Given the description of an element on the screen output the (x, y) to click on. 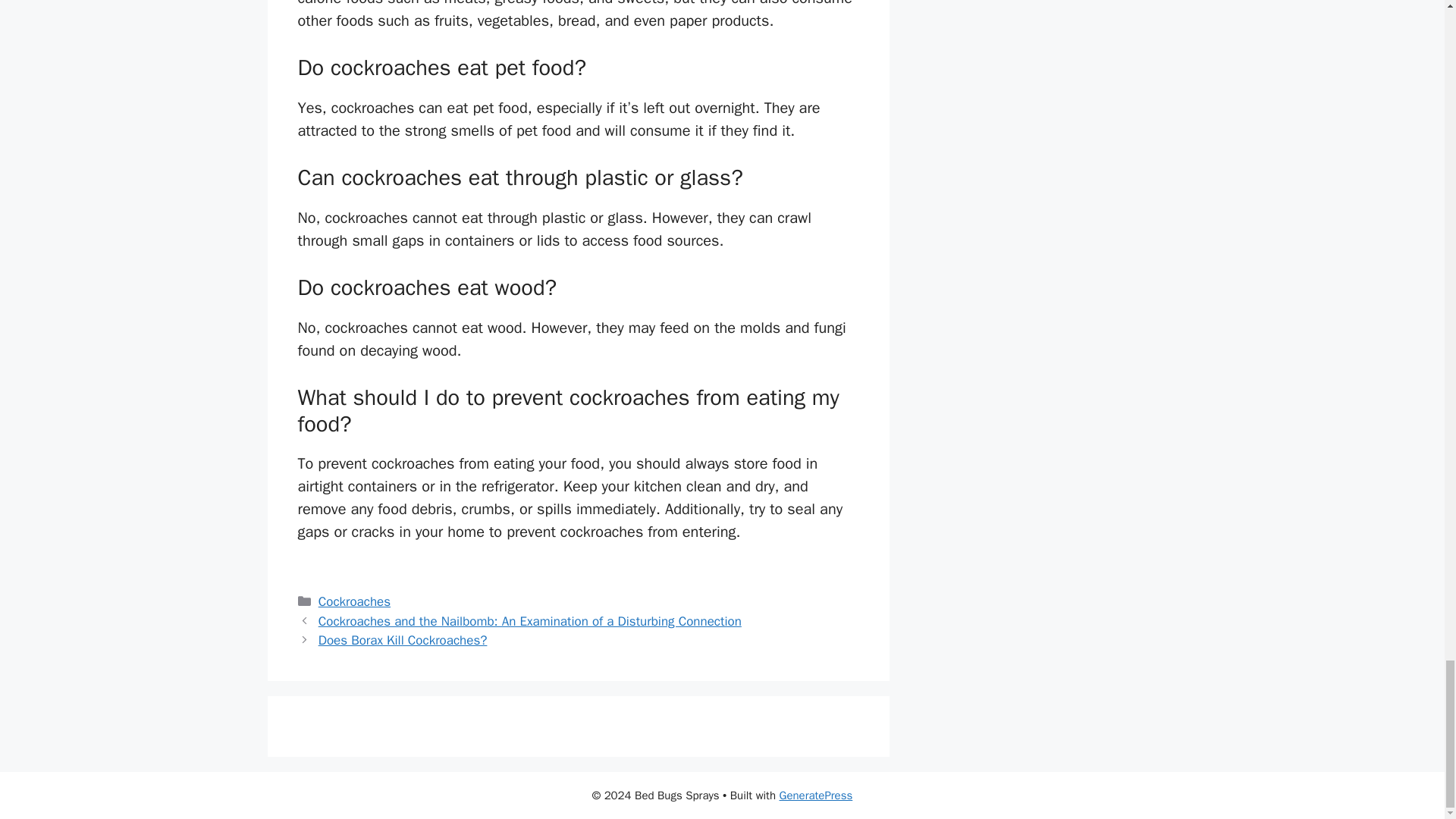
GeneratePress (815, 795)
Cockroaches (354, 601)
Does Borax Kill Cockroaches? (402, 640)
